Given the description of an element on the screen output the (x, y) to click on. 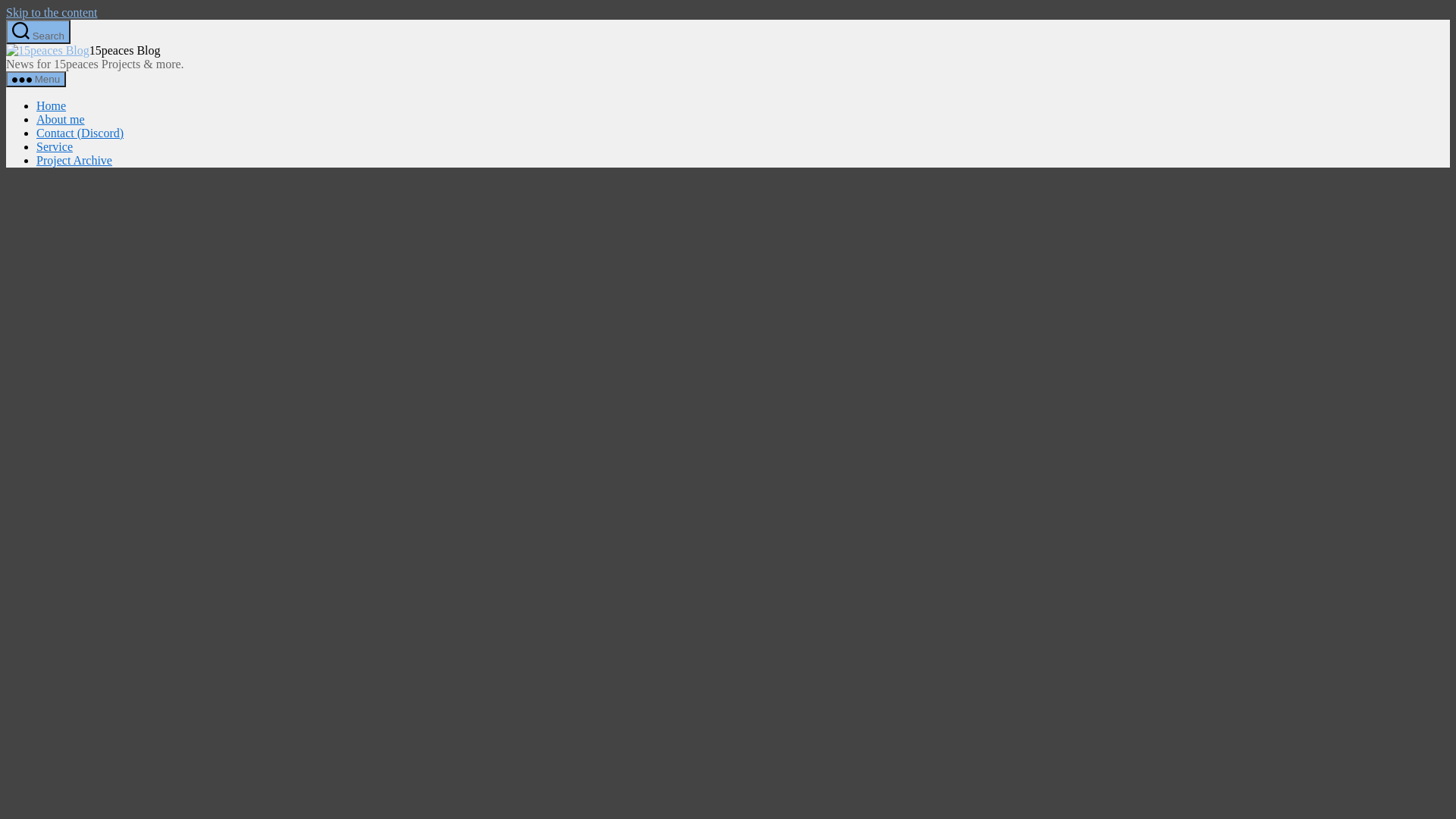
Skip to the content Element type: text (51, 12)
Service Element type: text (54, 146)
Project Archive Element type: text (74, 159)
About me Element type: text (60, 118)
Menu Element type: text (35, 79)
Contact (Discord) Element type: text (79, 132)
Search Element type: text (38, 31)
Home Element type: text (50, 105)
